Given the description of an element on the screen output the (x, y) to click on. 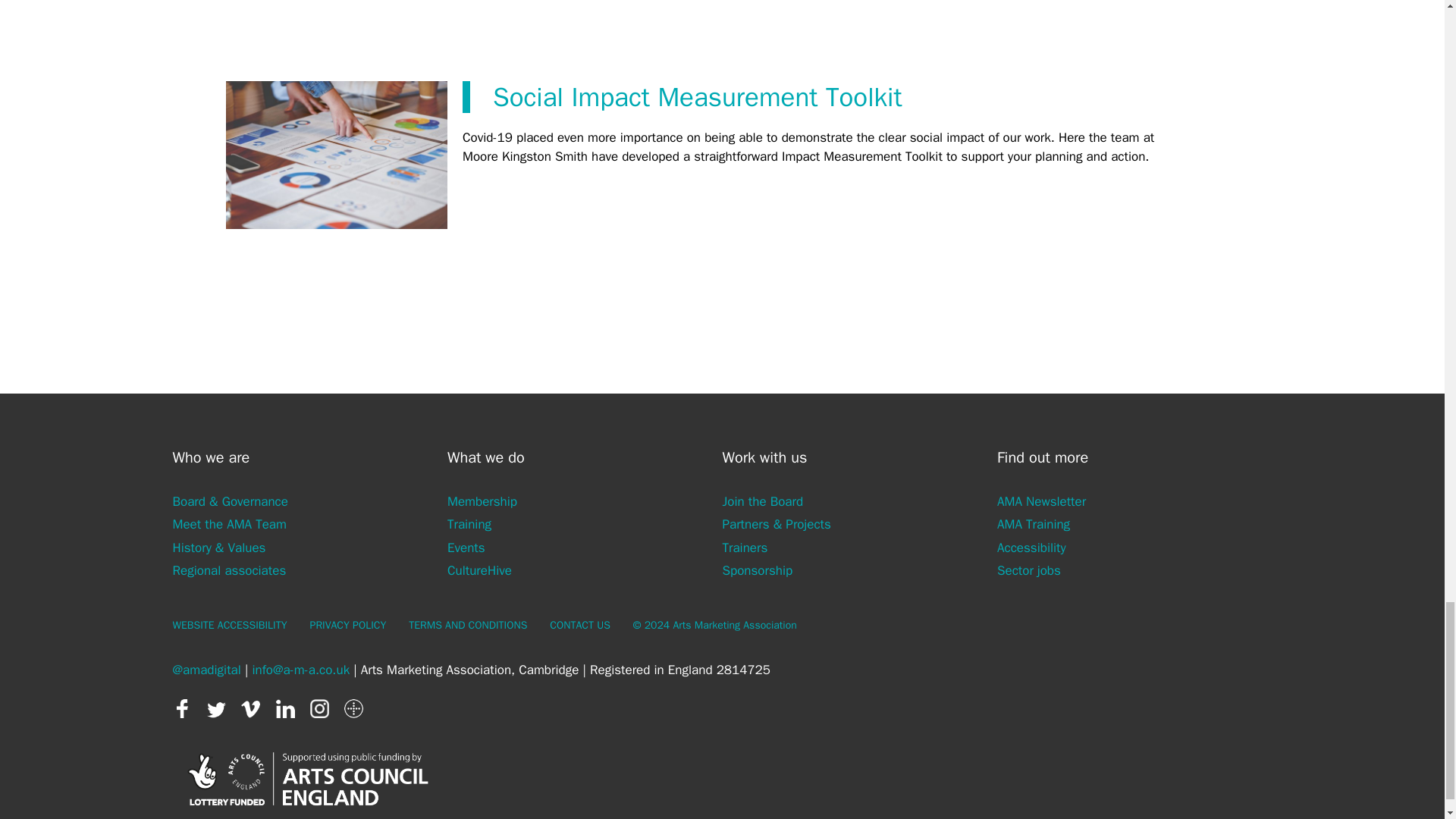
Training (469, 524)
Meet the AMA Team (229, 524)
Regional associates (229, 570)
Social Impact Measurement Toolkit (697, 96)
Membership (481, 500)
